Given the description of an element on the screen output the (x, y) to click on. 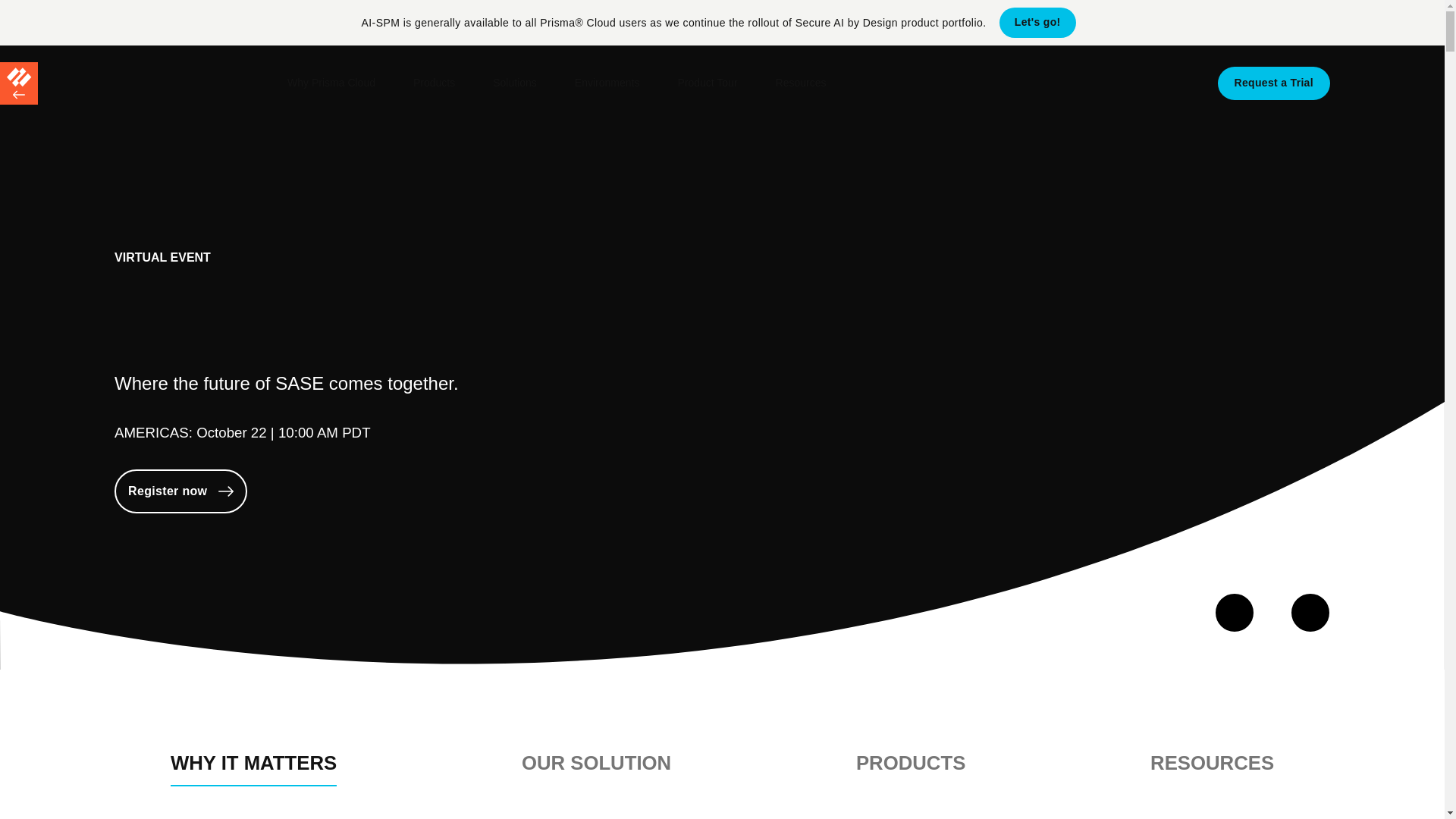
Environments (607, 83)
Register now (181, 491)
Solutions (515, 83)
Resources (801, 83)
Request a Trial (1273, 82)
Product Tour (706, 83)
Let's go! (1036, 22)
Why Prisma Cloud (330, 83)
Products (434, 83)
